Given the description of an element on the screen output the (x, y) to click on. 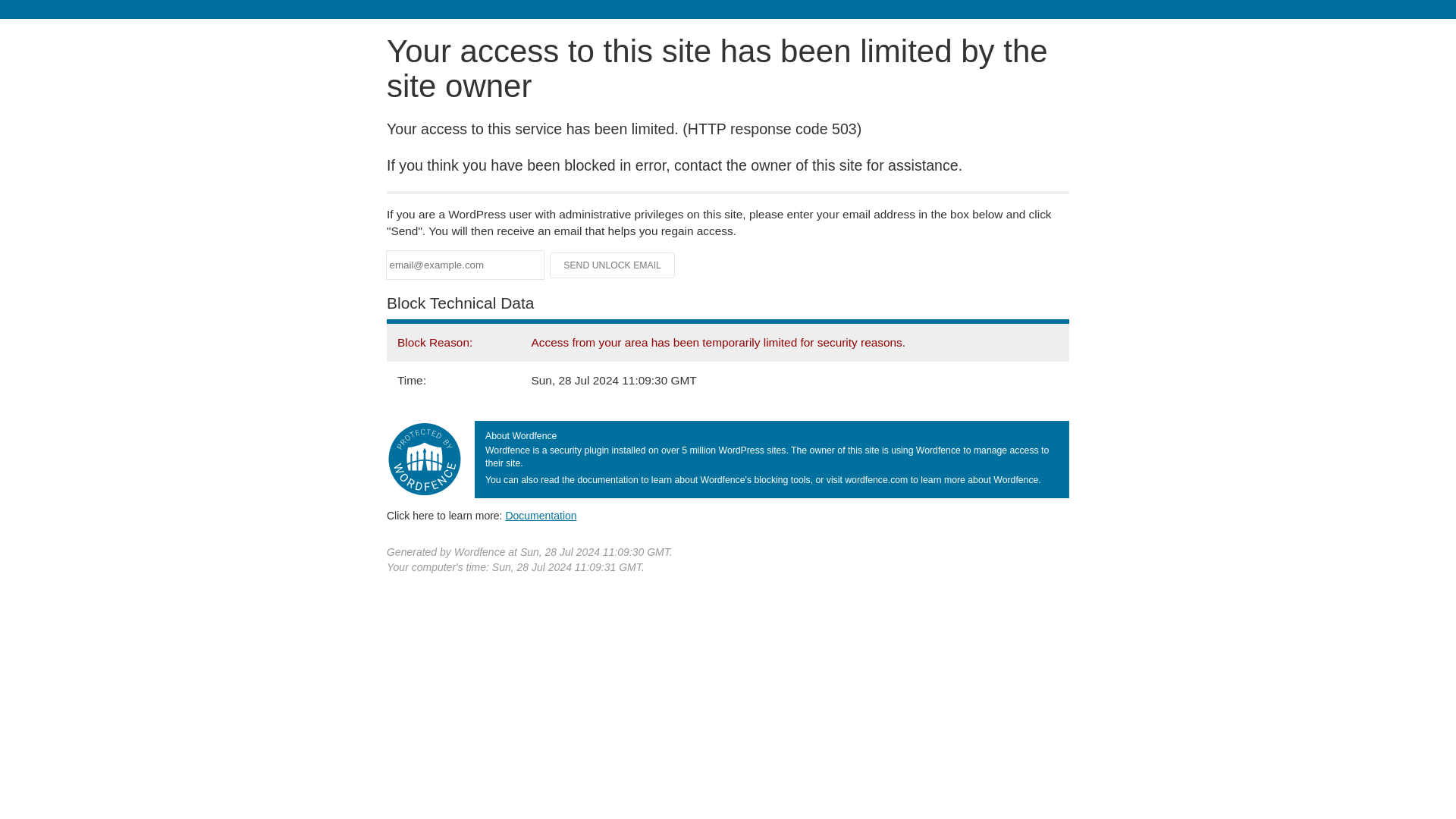
Send Unlock Email (612, 265)
Send Unlock Email (612, 265)
Documentation (540, 515)
